Given the description of an element on the screen output the (x, y) to click on. 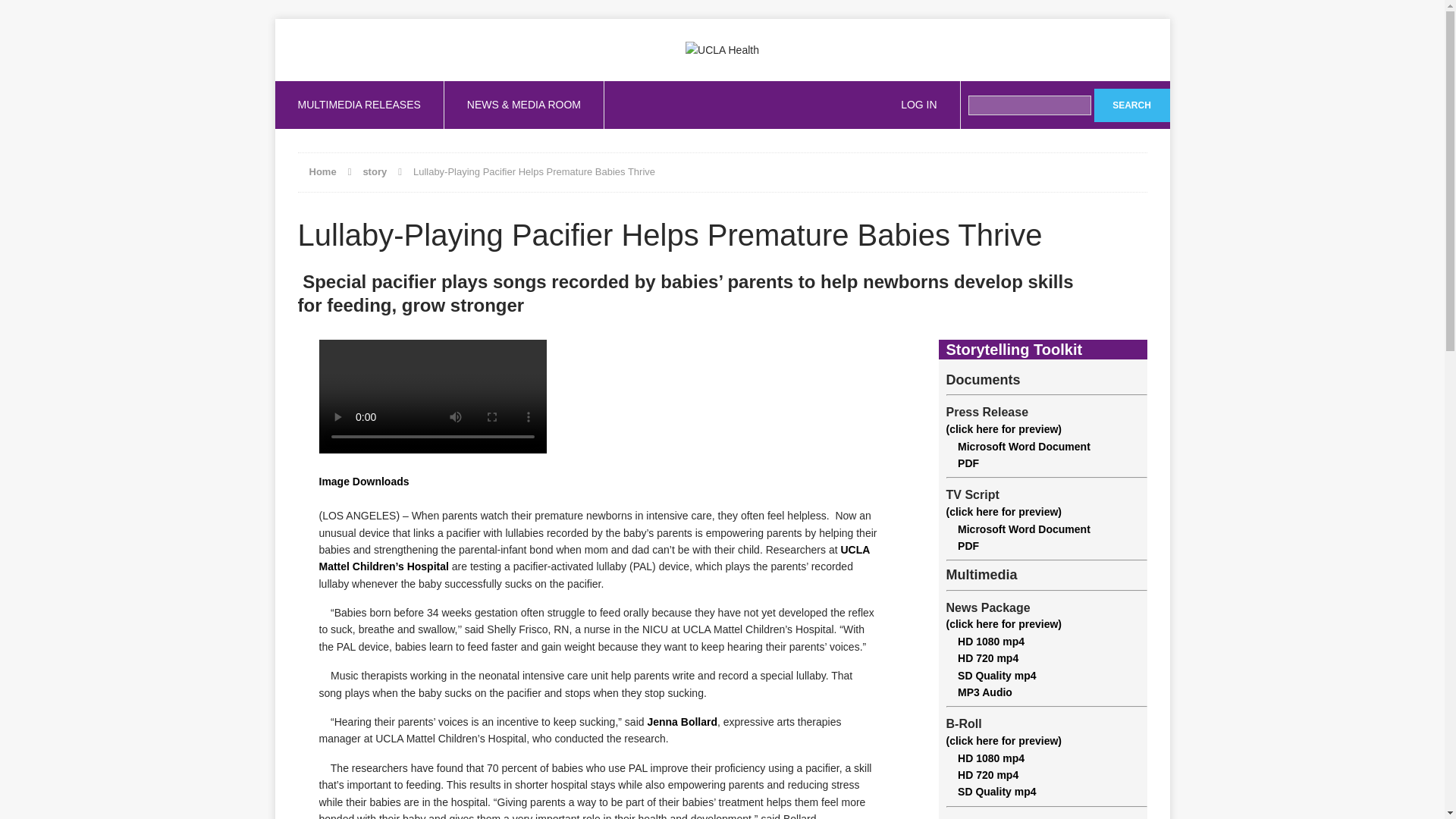
    HD 1080 mp4 (985, 641)
Search (1131, 105)
Search (1131, 105)
Home (322, 171)
    Microsoft Word Document (1018, 446)
    HD 720 mp4 (982, 657)
    Microsoft Word Document (1018, 529)
MULTIMEDIA RELEASES (358, 104)
Search (1131, 105)
    SD Quality mp4 (991, 675)
    HD 1080 mp4 (985, 758)
    SD Quality mp4 (991, 791)
UCLA Health (722, 49)
    PDF (962, 545)
    PDF (962, 463)
